Given the description of an element on the screen output the (x, y) to click on. 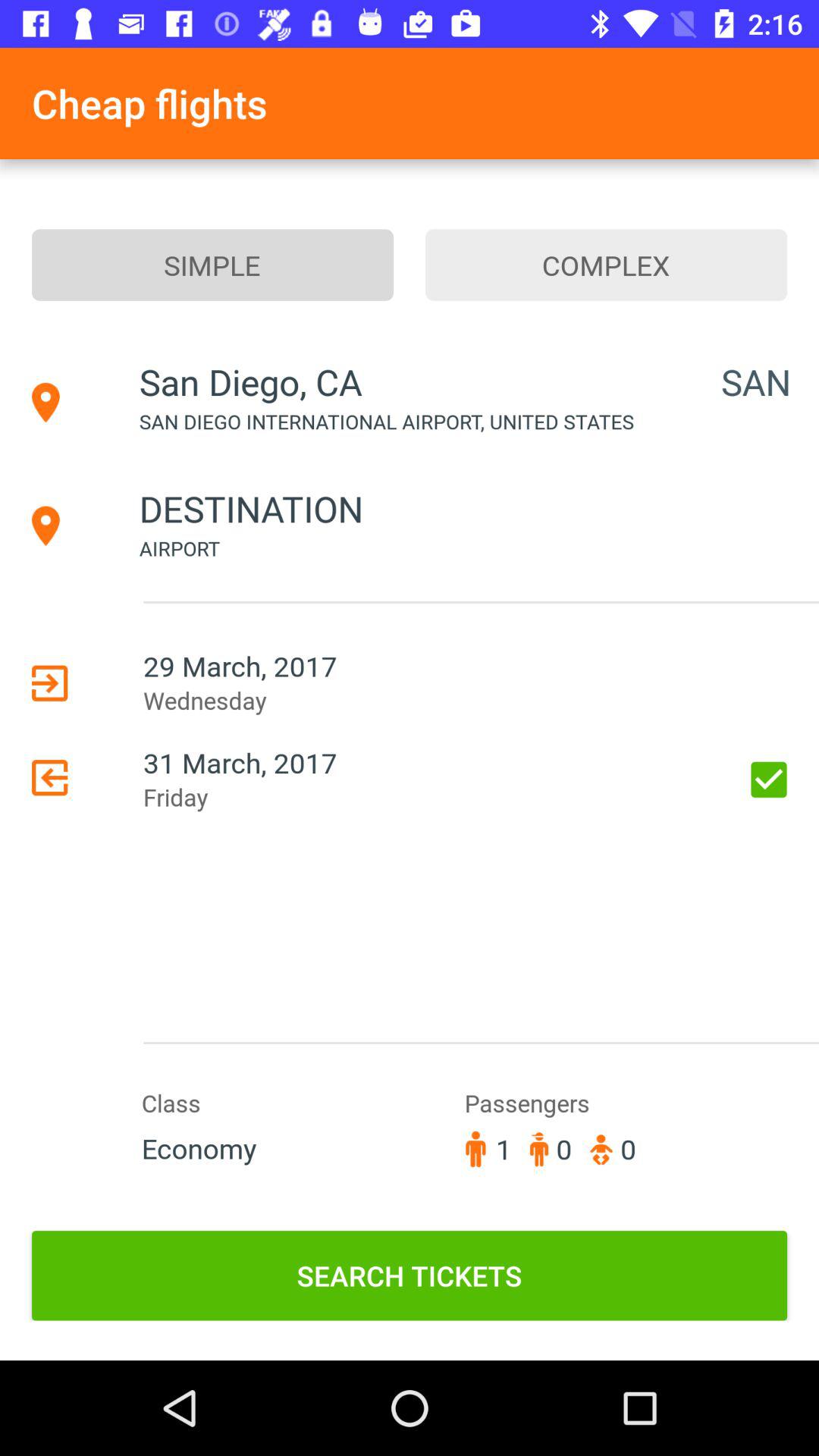
tap item above san (606, 264)
